Given the description of an element on the screen output the (x, y) to click on. 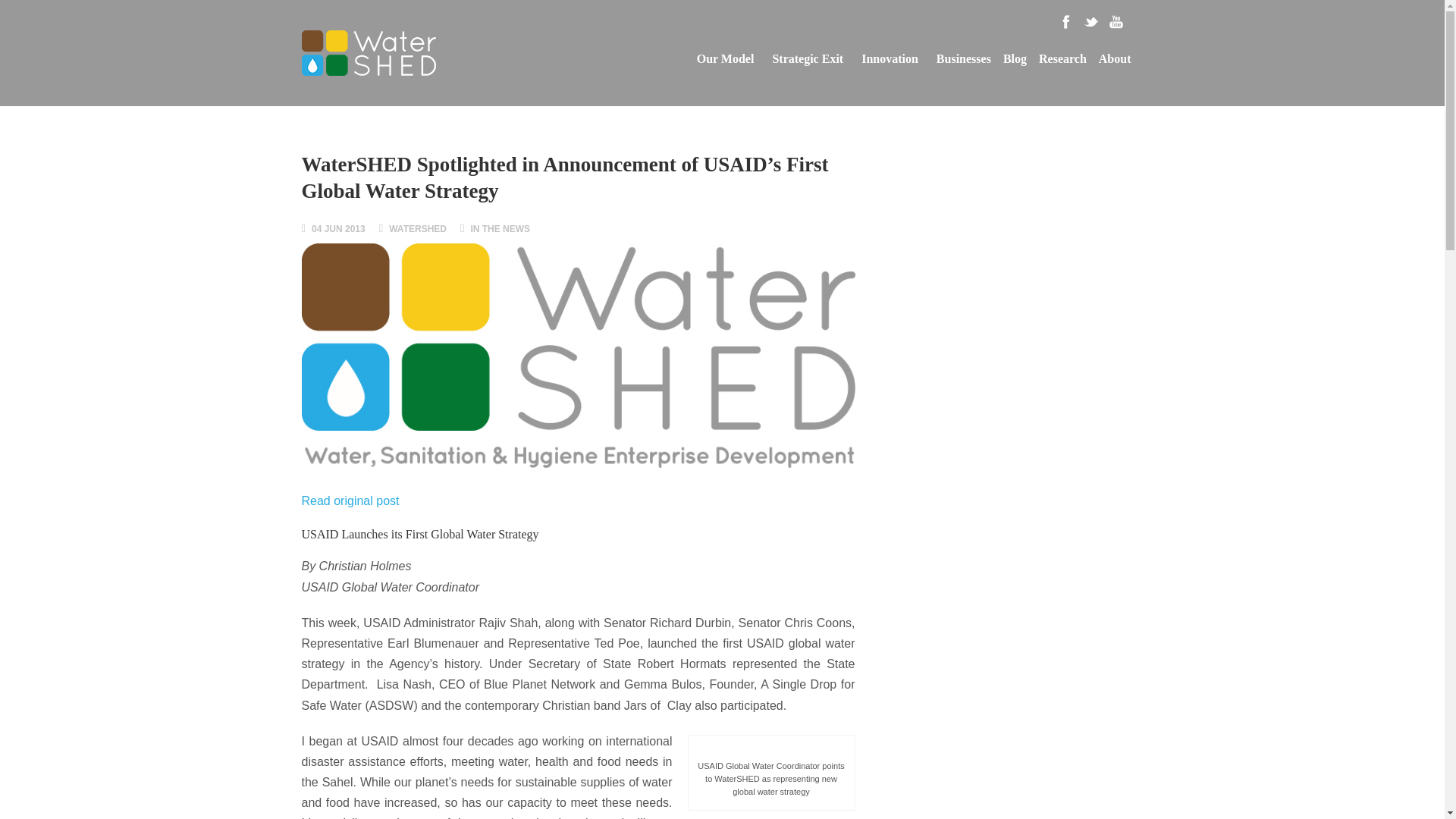
Our Model (725, 59)
Posts by WaterSHED (417, 228)
Innovation (889, 59)
Strategic Exit (807, 59)
